Given the description of an element on the screen output the (x, y) to click on. 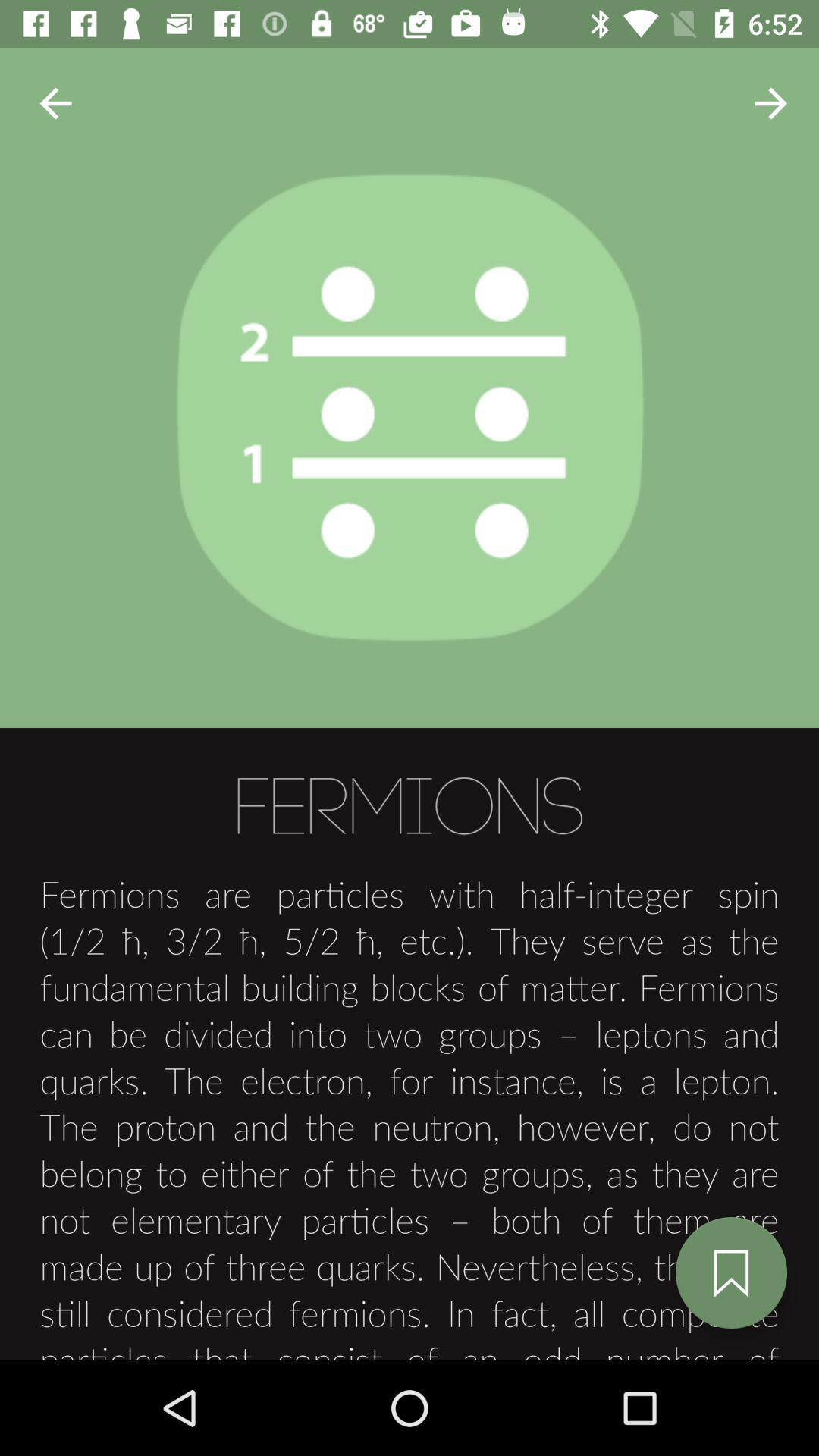
save button (731, 1272)
